Given the description of an element on the screen output the (x, y) to click on. 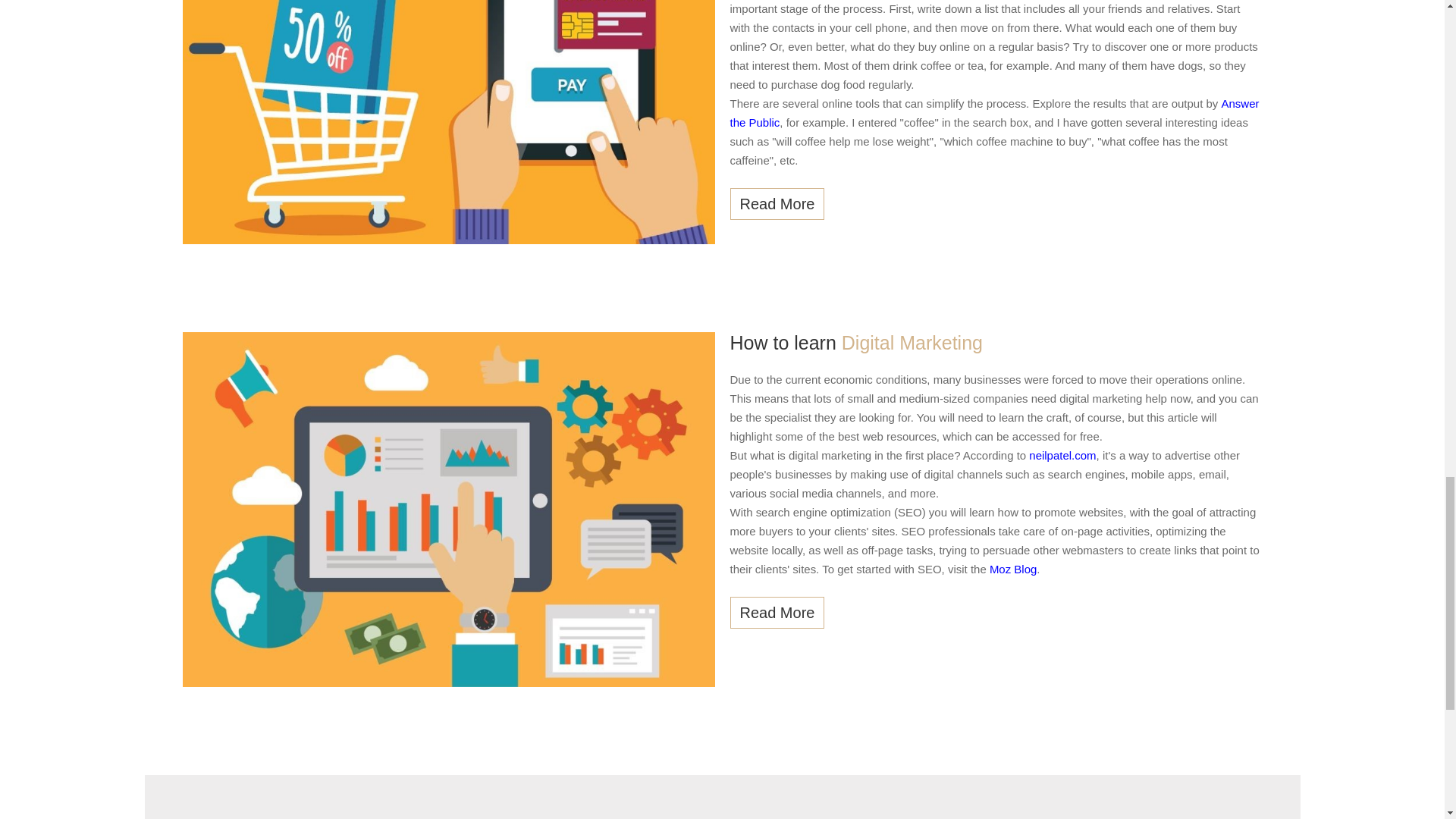
Read More (776, 612)
Answer the Public (994, 111)
Moz Blog (1013, 567)
neilpatel.com (1062, 453)
Read More (776, 204)
